Given the description of an element on the screen output the (x, y) to click on. 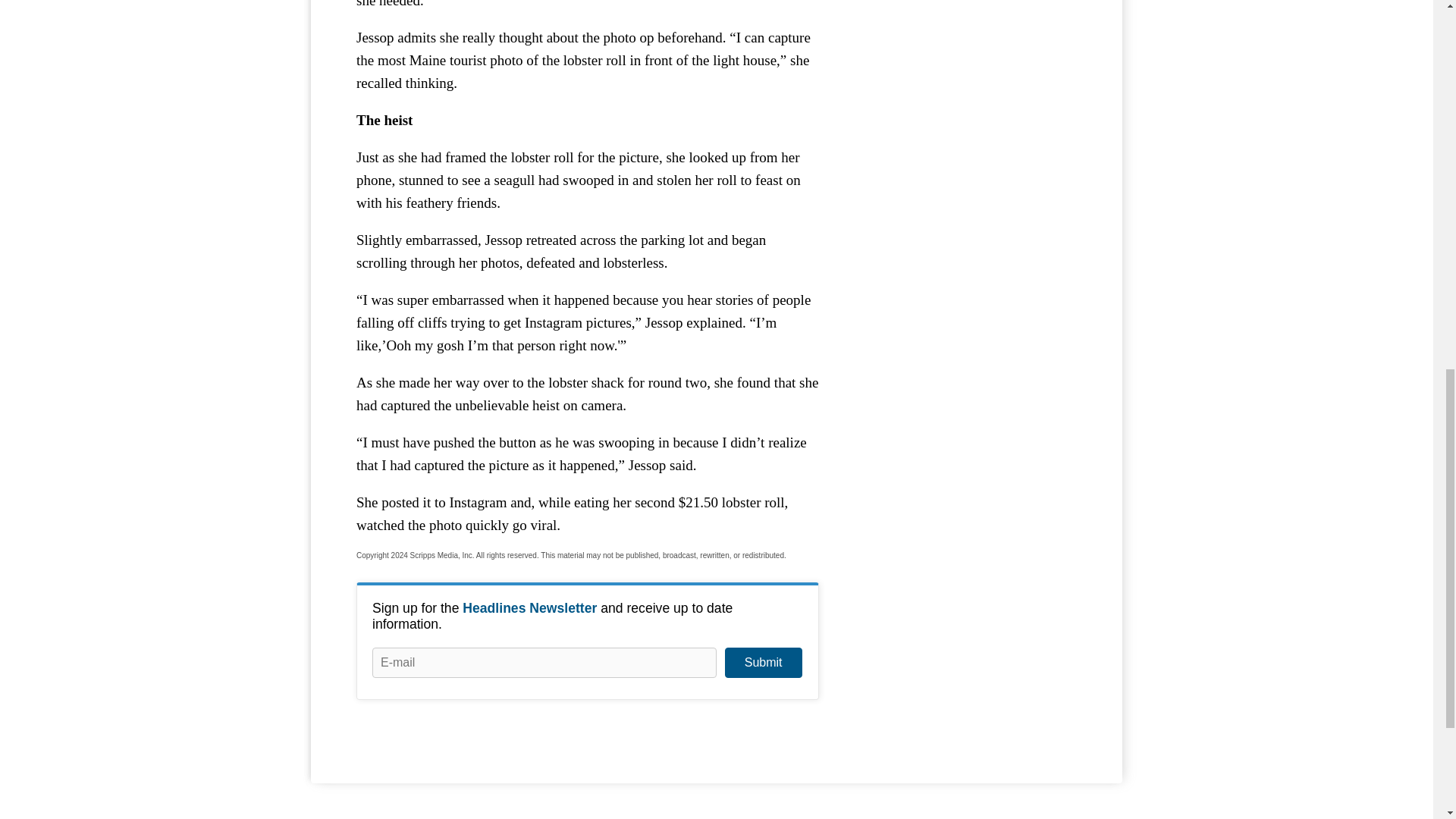
Submit (763, 662)
